Given the description of an element on the screen output the (x, y) to click on. 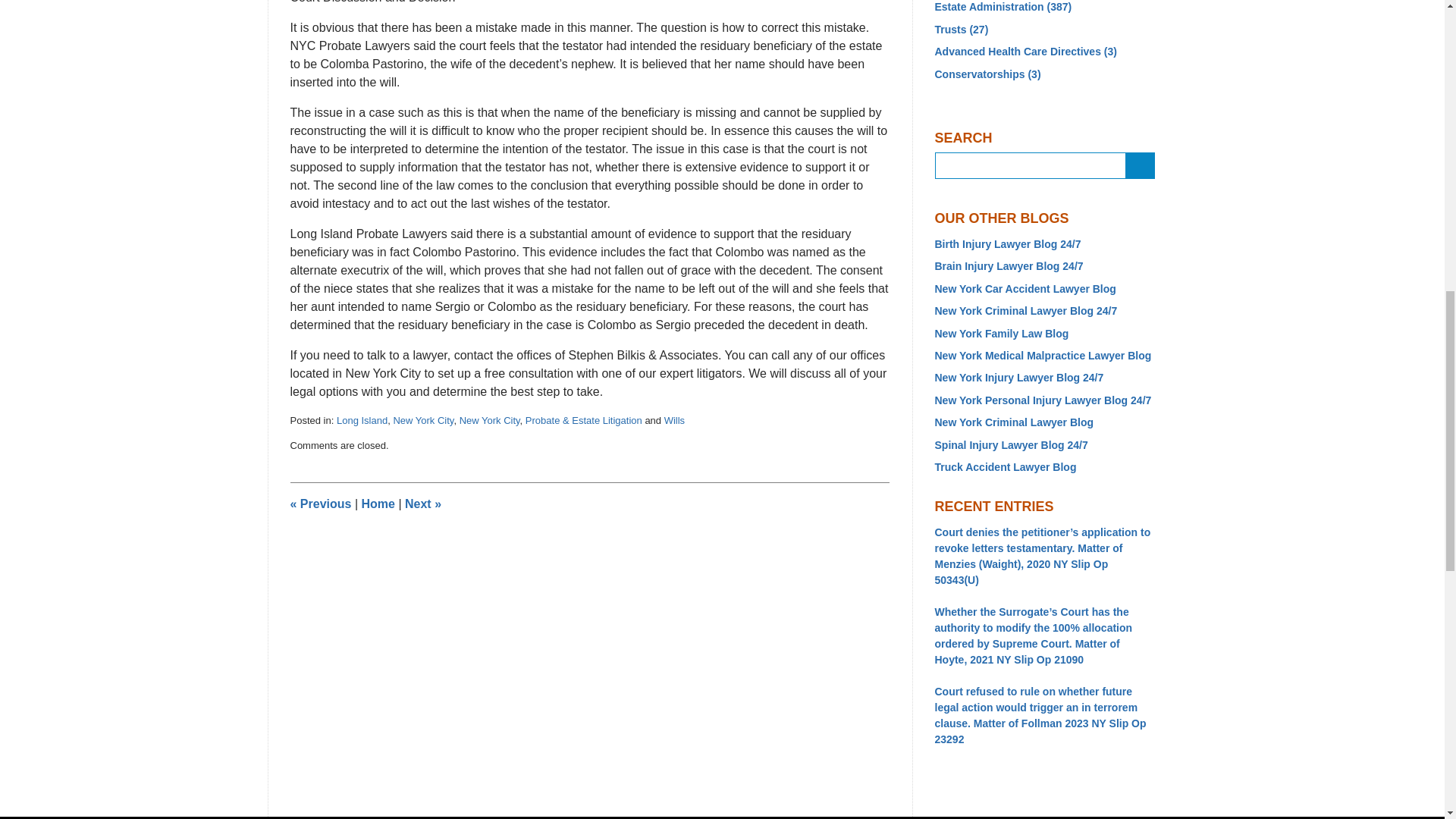
View all posts in Long Island (361, 419)
Court Decides if Letters Testamentary Should be Issued (319, 503)
SEARCH (1139, 165)
New York Car Accident Lawyer Blog (1044, 289)
Wills (673, 419)
Home (377, 503)
View all posts in Wills (673, 419)
New York City (422, 419)
Long Island (361, 419)
Foreclosure of Home Involved in Probate (422, 503)
